Given the description of an element on the screen output the (x, y) to click on. 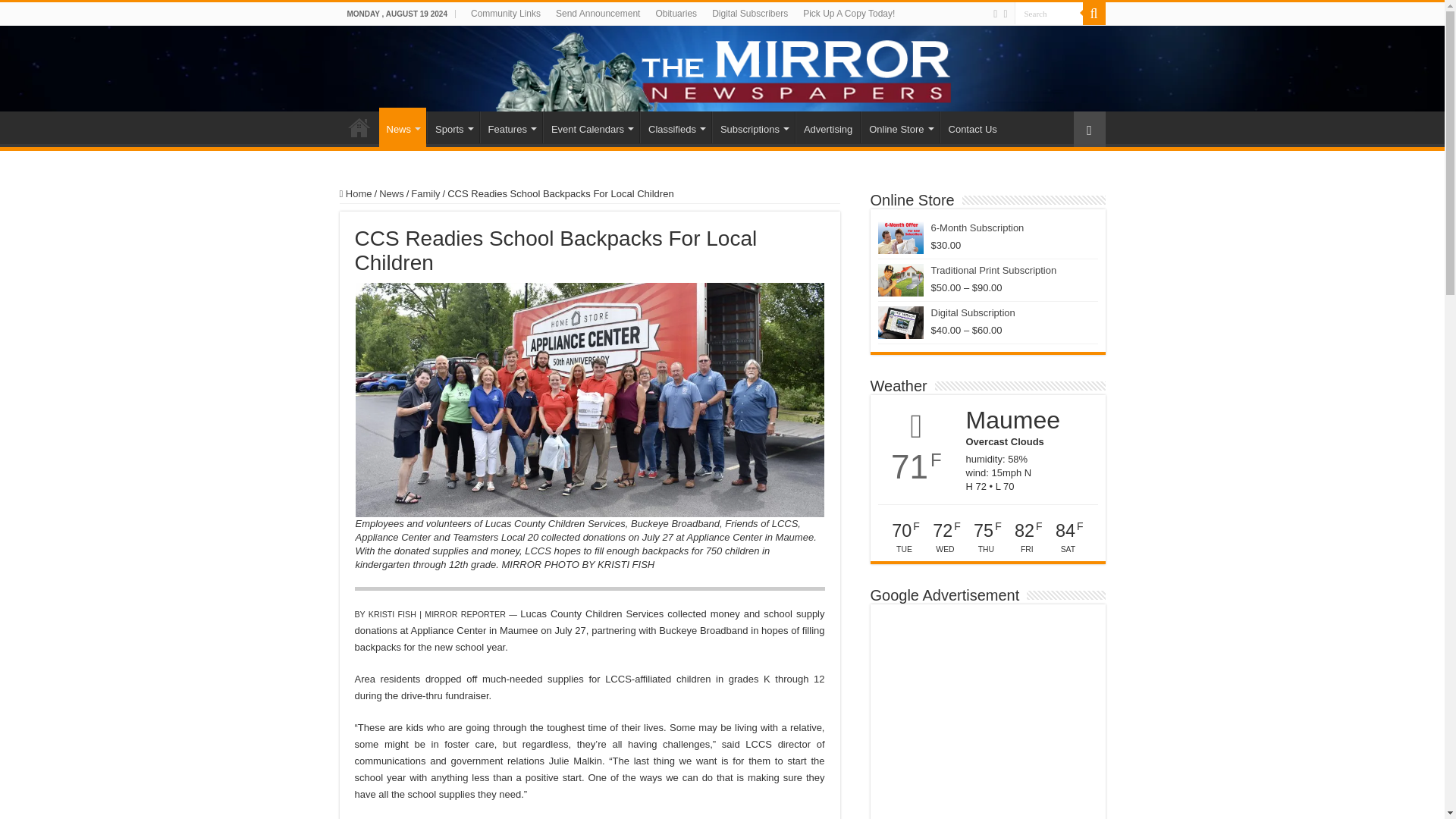
Search (1048, 13)
The Mirror Newspapers (722, 68)
Advertisement (986, 715)
Search (1048, 13)
Search (1048, 13)
